Given the description of an element on the screen output the (x, y) to click on. 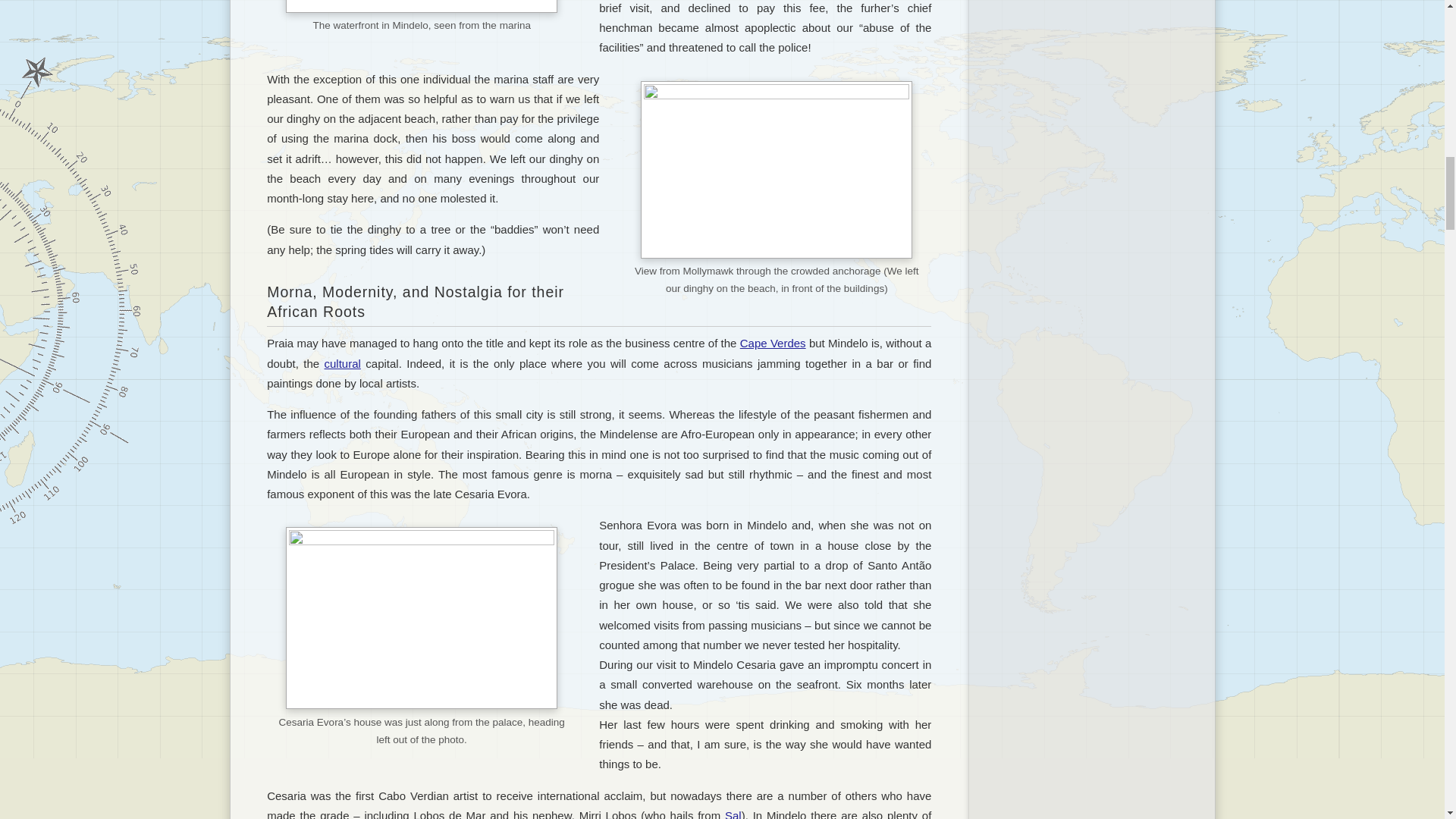
The waterfront in Mindelo, seen from the marina (421, 6)
Cape Verdes (772, 342)
cultural (342, 362)
Sal (733, 814)
